Given the description of an element on the screen output the (x, y) to click on. 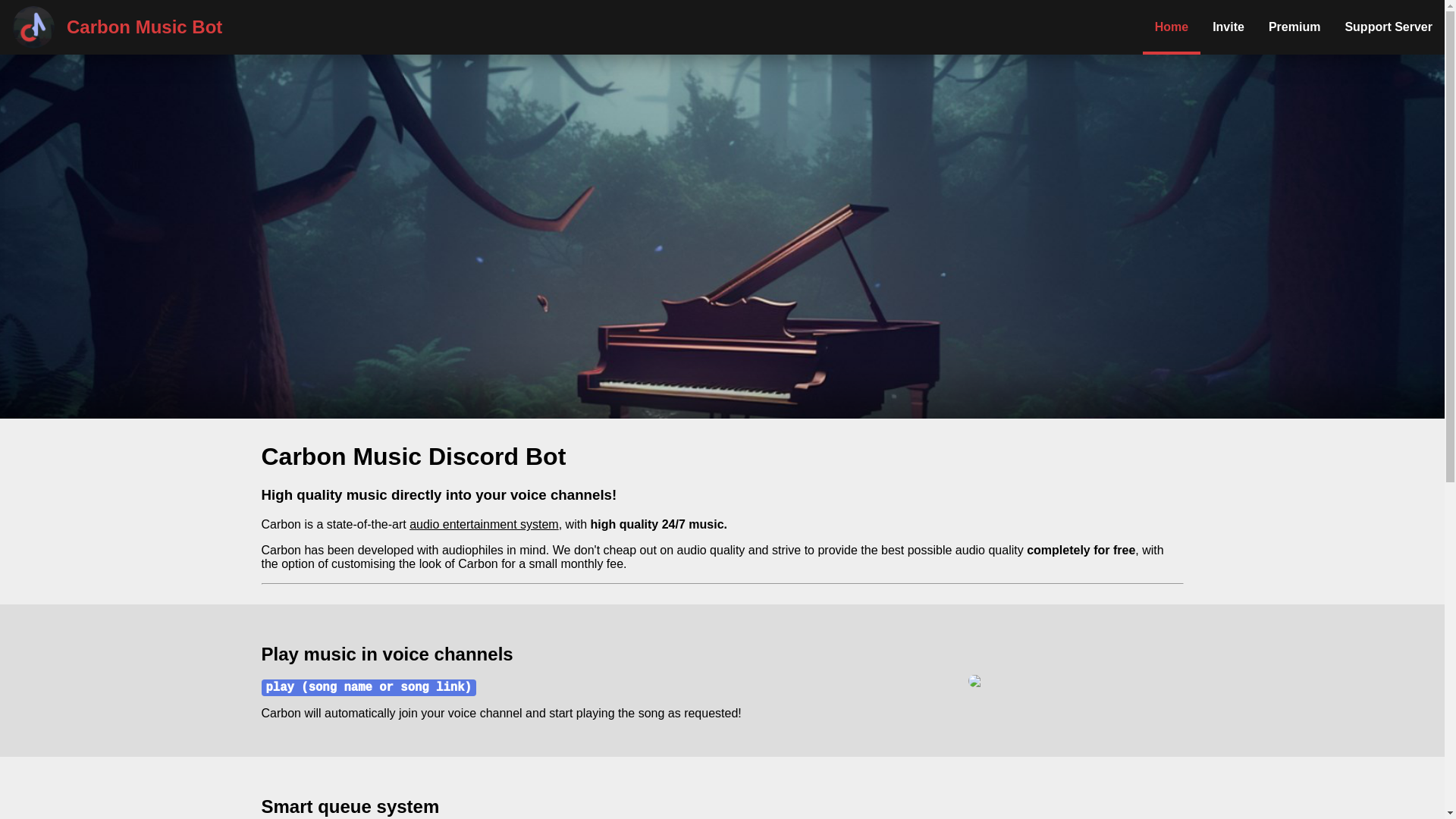
Home Element type: text (1171, 27)
Premium Element type: text (1294, 27)
Support Server Element type: text (1388, 27)
Invite Element type: text (1228, 27)
